Given the description of an element on the screen output the (x, y) to click on. 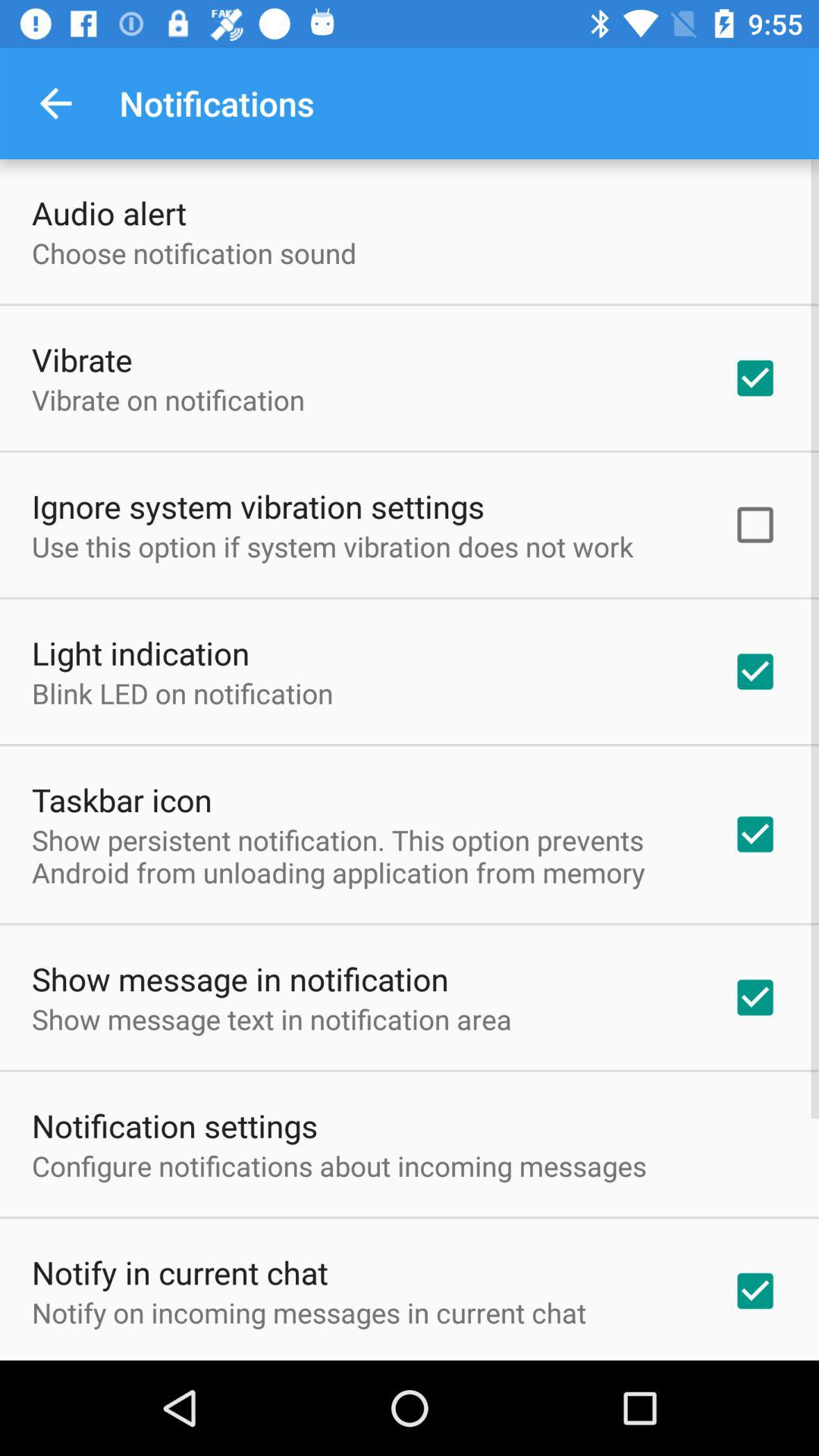
flip to notify on incoming (308, 1312)
